Given the description of an element on the screen output the (x, y) to click on. 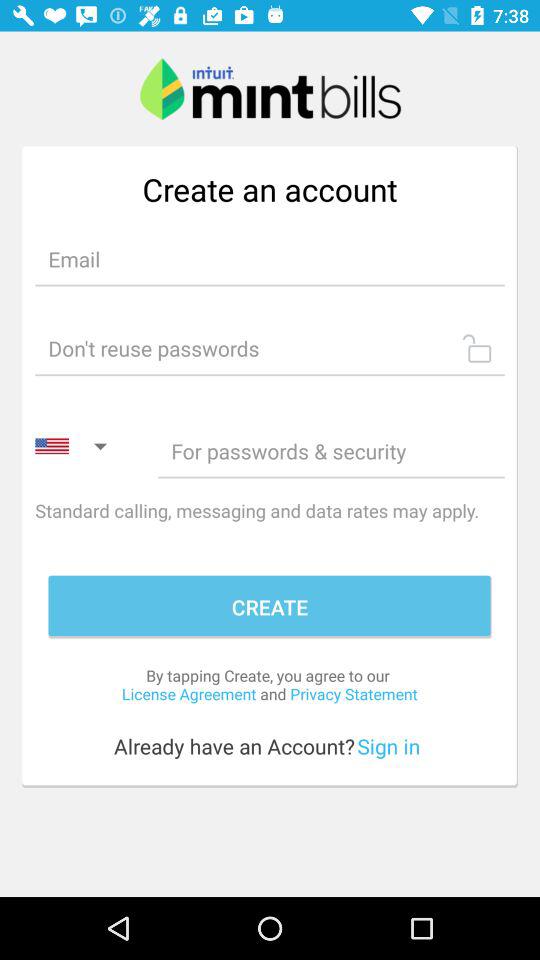
go to password option (331, 450)
